Given the description of an element on the screen output the (x, y) to click on. 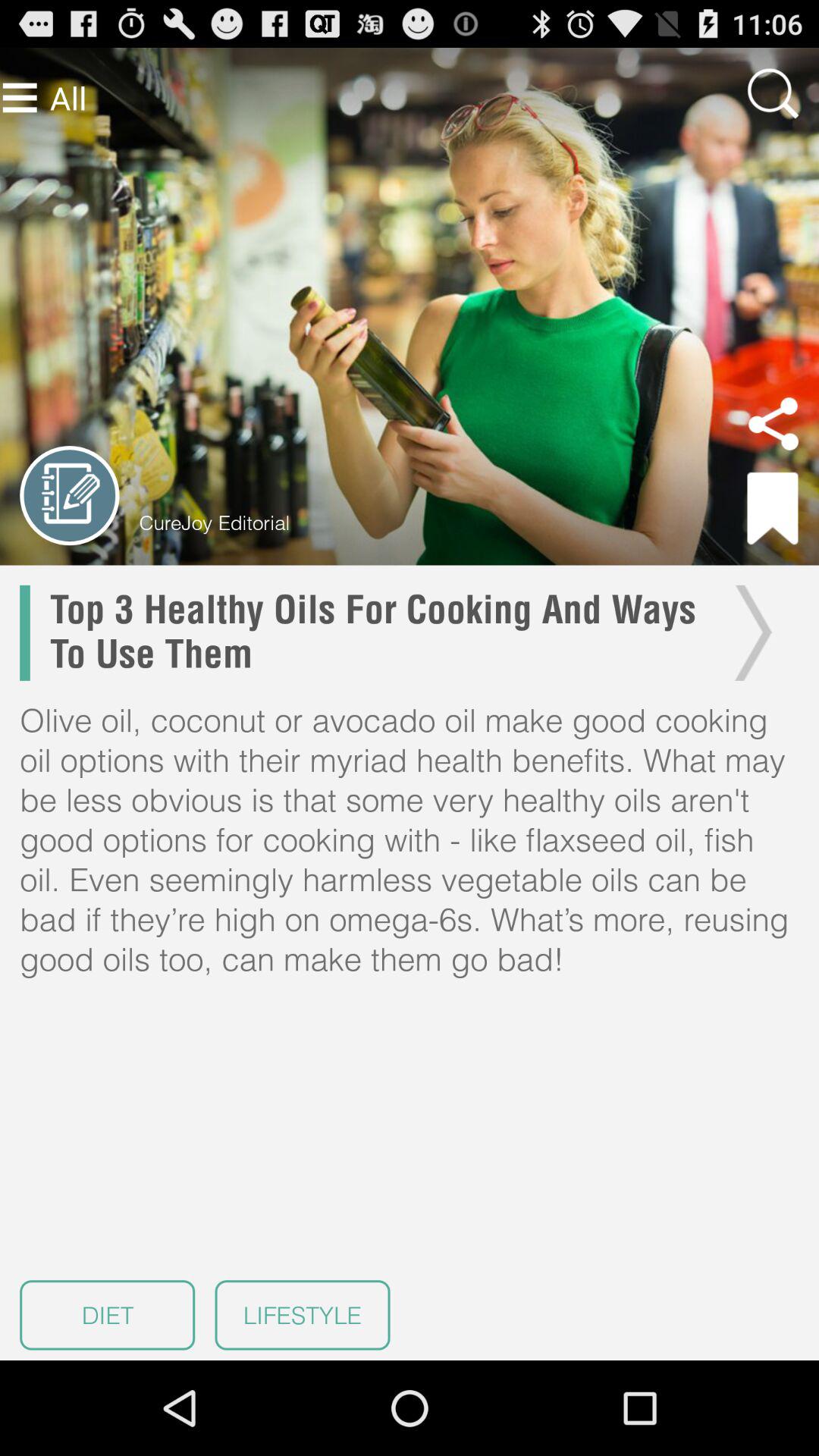
open item above the olive oil coconut icon (374, 632)
